Given the description of an element on the screen output the (x, y) to click on. 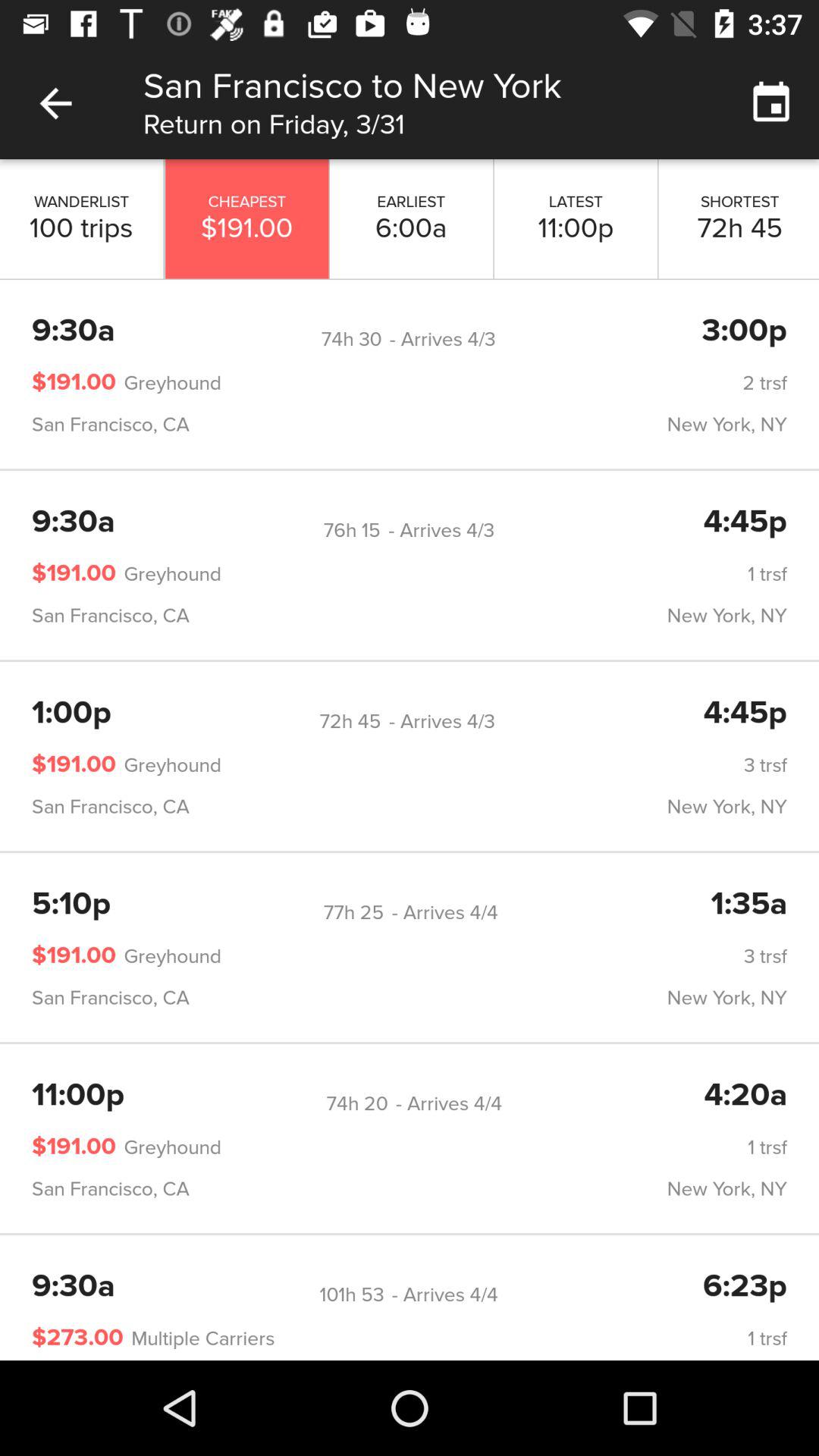
scroll until the 101h 53 item (351, 1294)
